Given the description of an element on the screen output the (x, y) to click on. 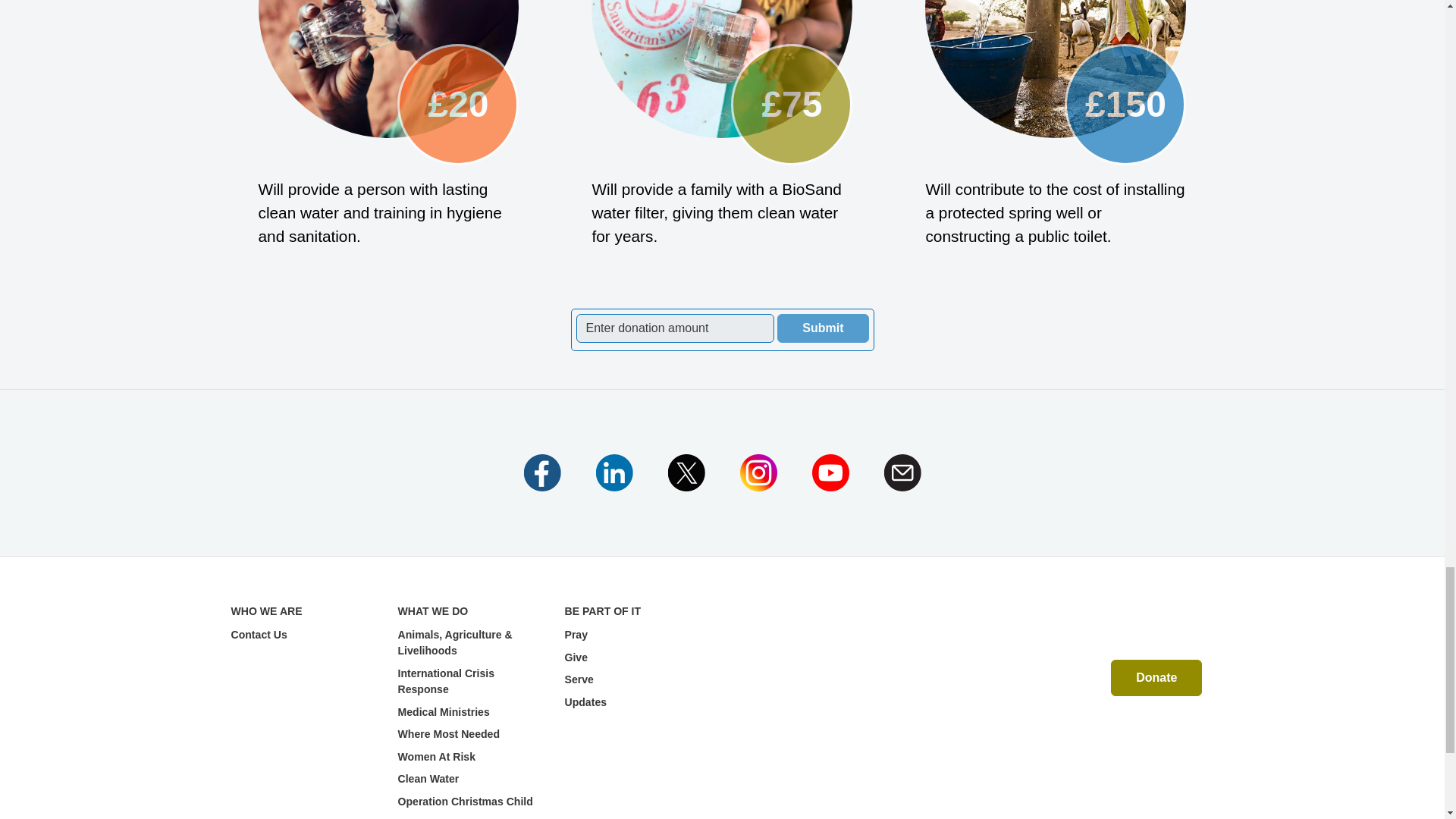
Submit (822, 328)
